Given the description of an element on the screen output the (x, y) to click on. 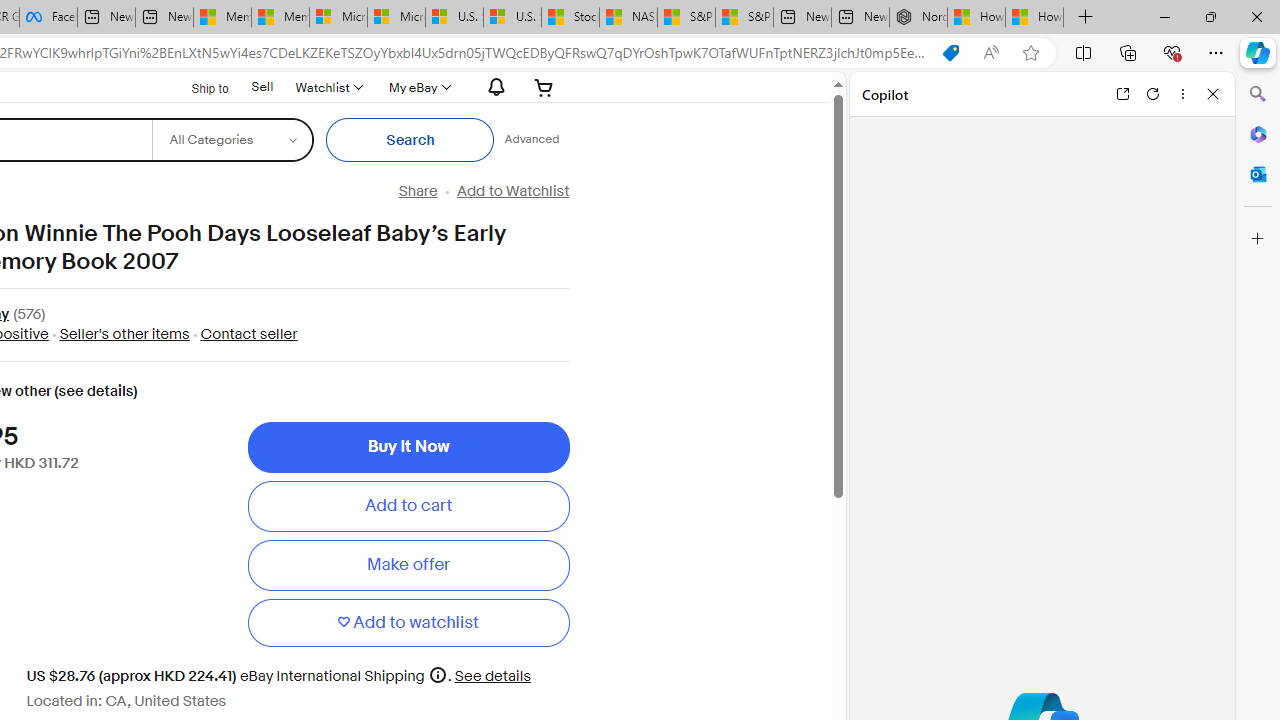
Watchlist (328, 87)
My eBayExpand My eBay (418, 87)
Your shopping cart (543, 87)
Ship to (197, 85)
Customize (1258, 239)
Contact seller (248, 334)
Add to cart (408, 506)
  Contact seller (243, 334)
  Seller's other items (118, 334)
